Given the description of an element on the screen output the (x, y) to click on. 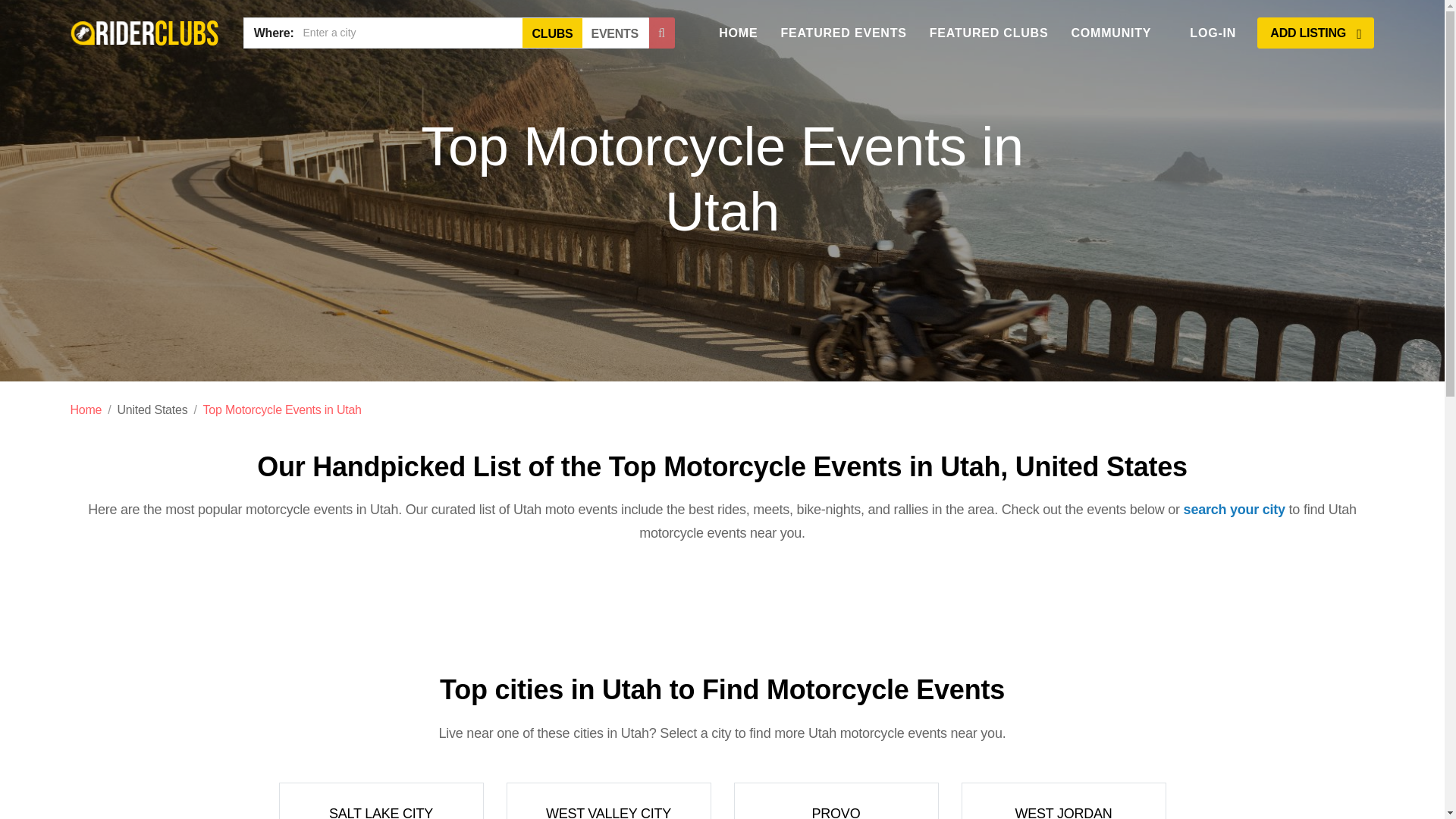
FEATURED EVENTS (842, 33)
1 (536, 28)
COMMUNITY (1110, 33)
Category (381, 800)
ADD LISTING (1315, 32)
SALT LAKE CITY (381, 800)
2 (595, 28)
search your city (1234, 509)
WEST JORDAN (1063, 800)
Top Motorcycle Events in Utah (282, 409)
